Given the description of an element on the screen output the (x, y) to click on. 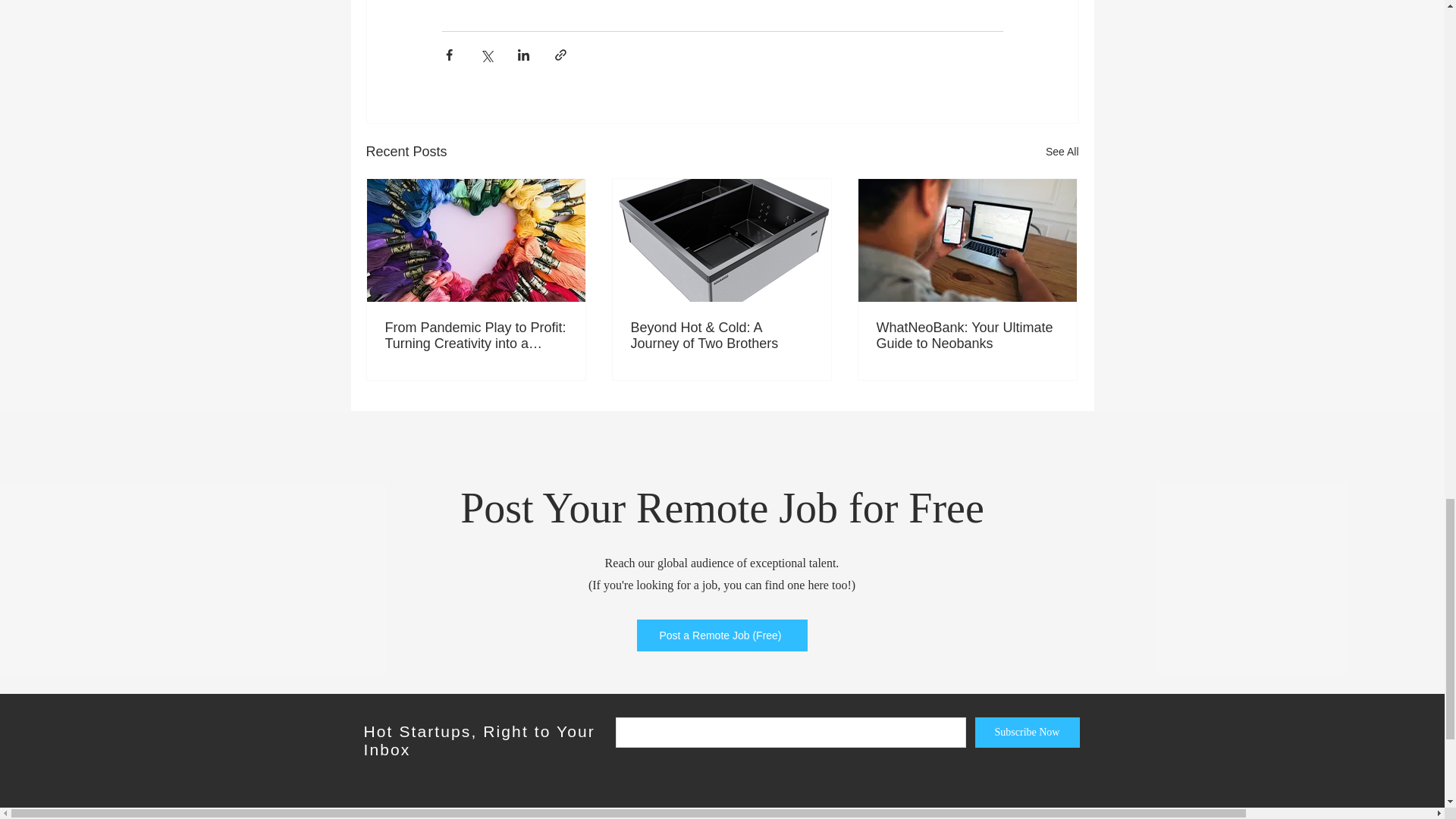
See All (1061, 151)
Subscribe Now (1027, 732)
WhatNeoBank: Your Ultimate Guide to Neobanks (967, 336)
